Given the description of an element on the screen output the (x, y) to click on. 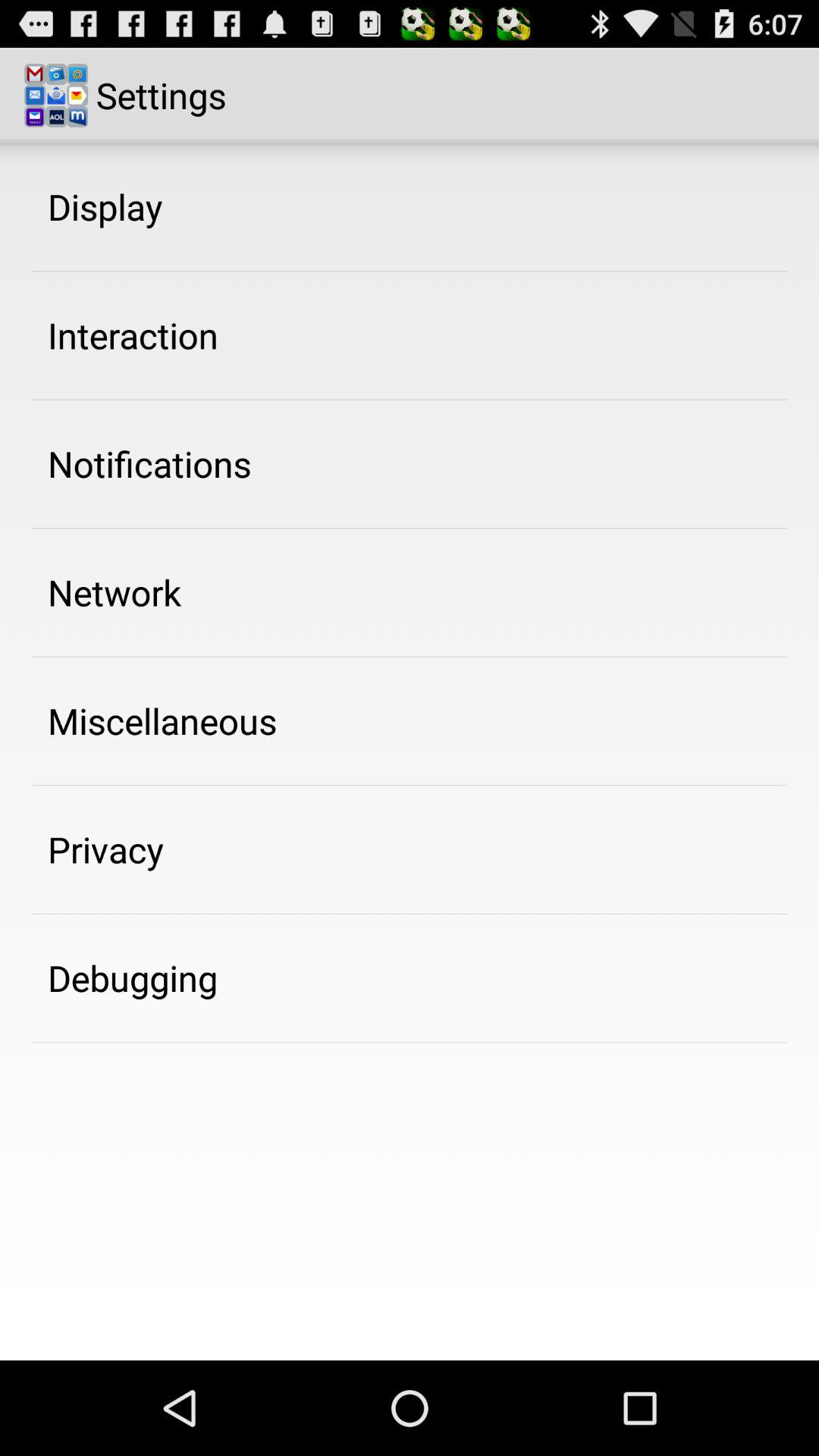
select the item above interaction icon (104, 206)
